Given the description of an element on the screen output the (x, y) to click on. 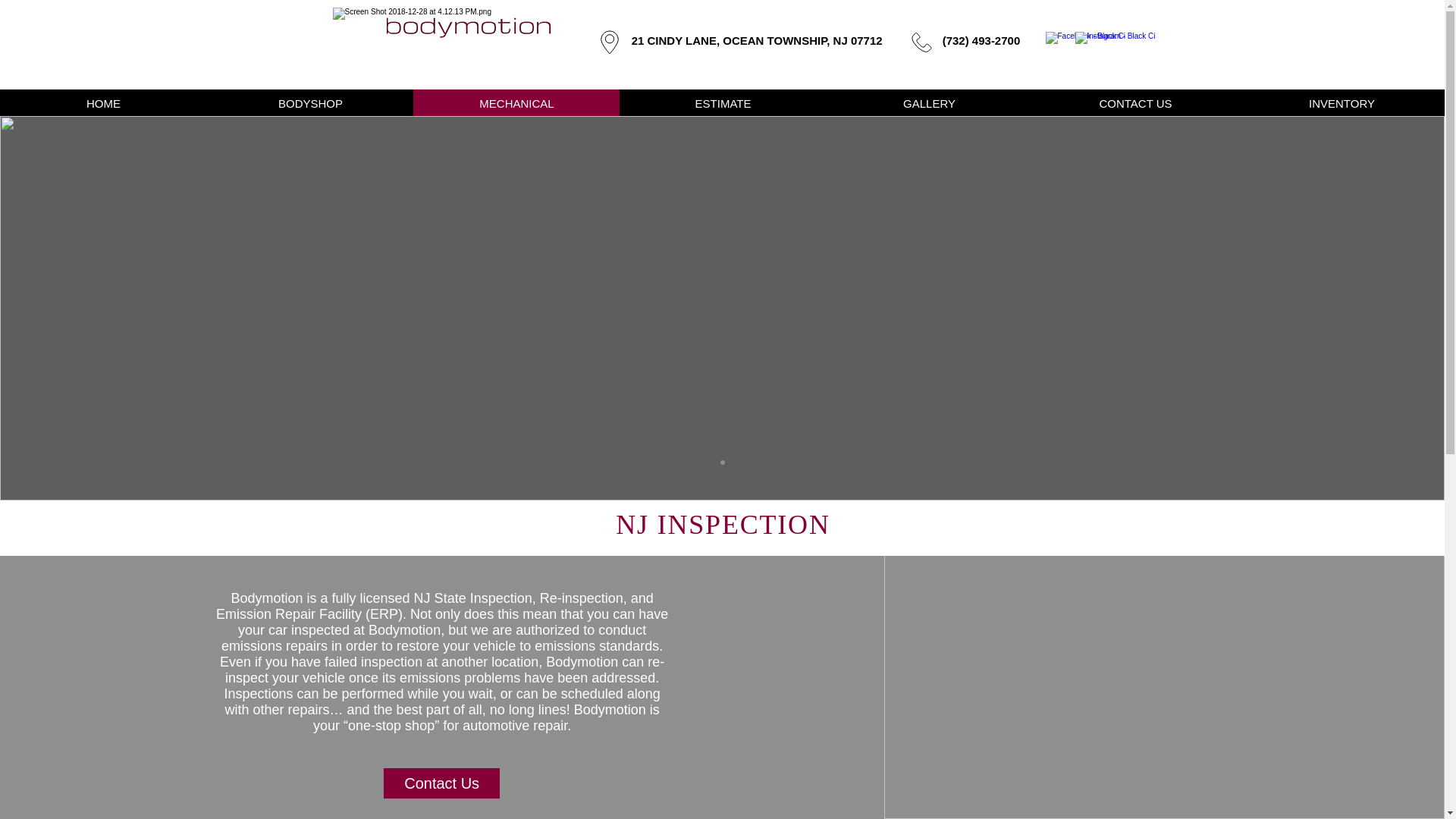
CONTACT US (1135, 103)
HOME (103, 103)
GALLERY (928, 103)
 21 CINDY LANE, OCEAN TOWNSHIP, NJ 07712 (754, 40)
Contact Us (441, 783)
BODYSHOP (309, 103)
MECHANICAL (516, 103)
ESTIMATE (722, 103)
